Given the description of an element on the screen output the (x, y) to click on. 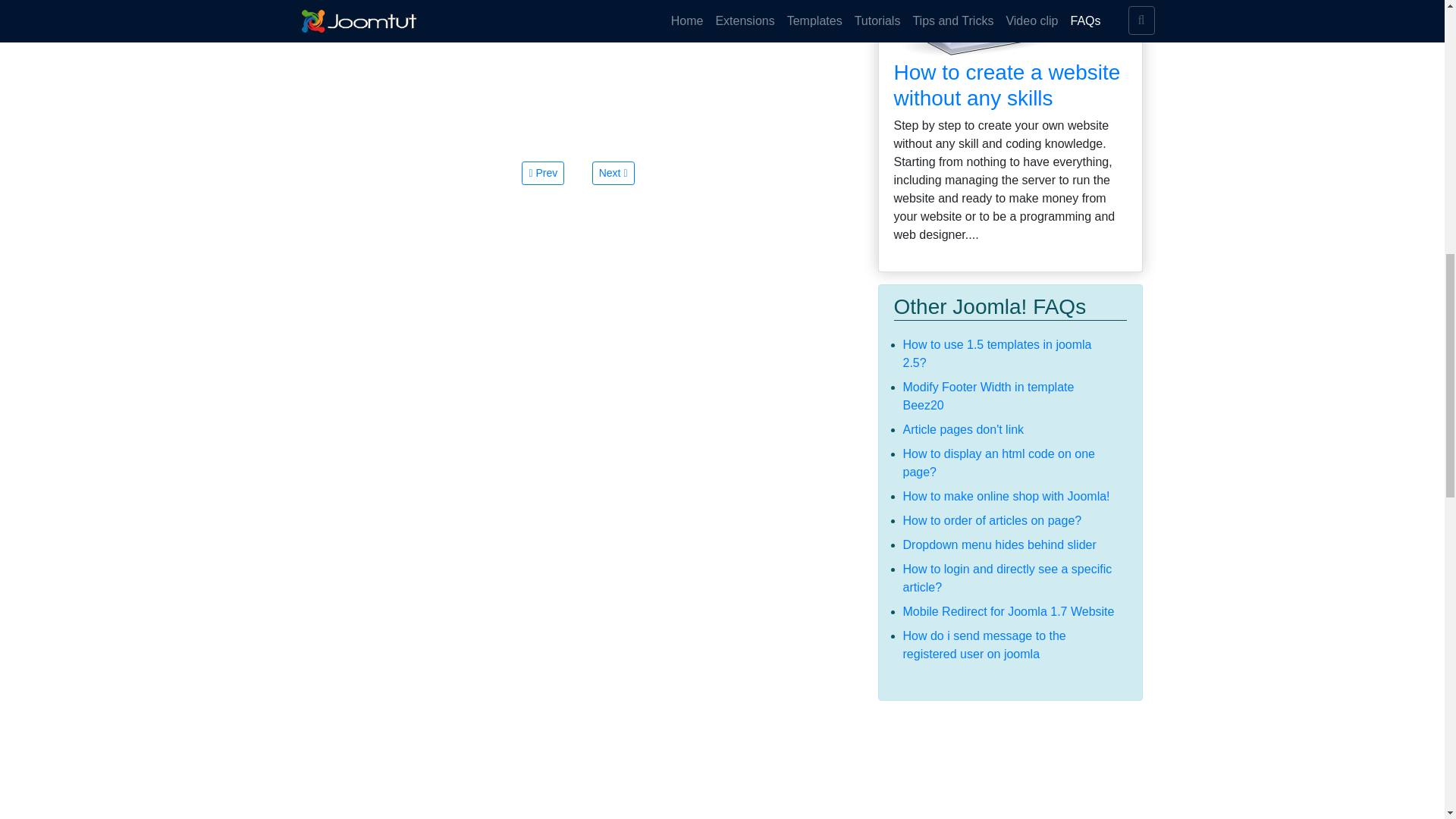
Article pages don't link (962, 429)
How to display an html code on one page? (998, 462)
Forum URL on Kunena (542, 173)
How to login and directly see a specific article? (1007, 577)
Make Your Own Joomla Website Without Any Skills (1009, 29)
Next (613, 173)
How to add menu link to home page (613, 173)
How to make online shop with Joomla! (1005, 495)
Dropdown menu hides behind slider (999, 544)
Prev (542, 173)
